Given the description of an element on the screen output the (x, y) to click on. 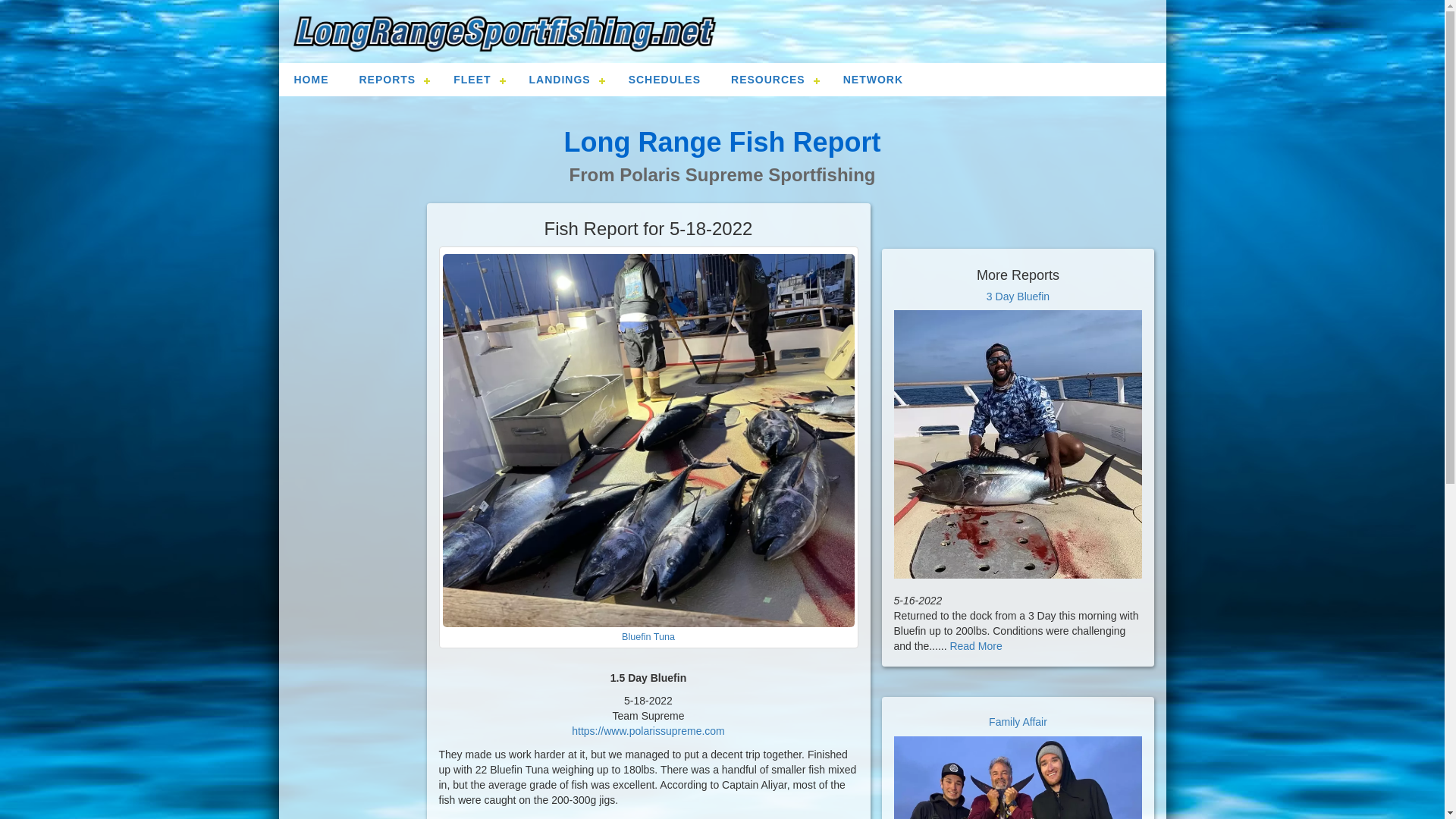
REPORTS (391, 79)
SCHEDULES (664, 79)
NETWORK (873, 79)
LANDINGS (562, 79)
Bluefin Tuna (648, 636)
RESOURCES (772, 79)
HOME (311, 79)
FLEET (475, 79)
